Given the description of an element on the screen output the (x, y) to click on. 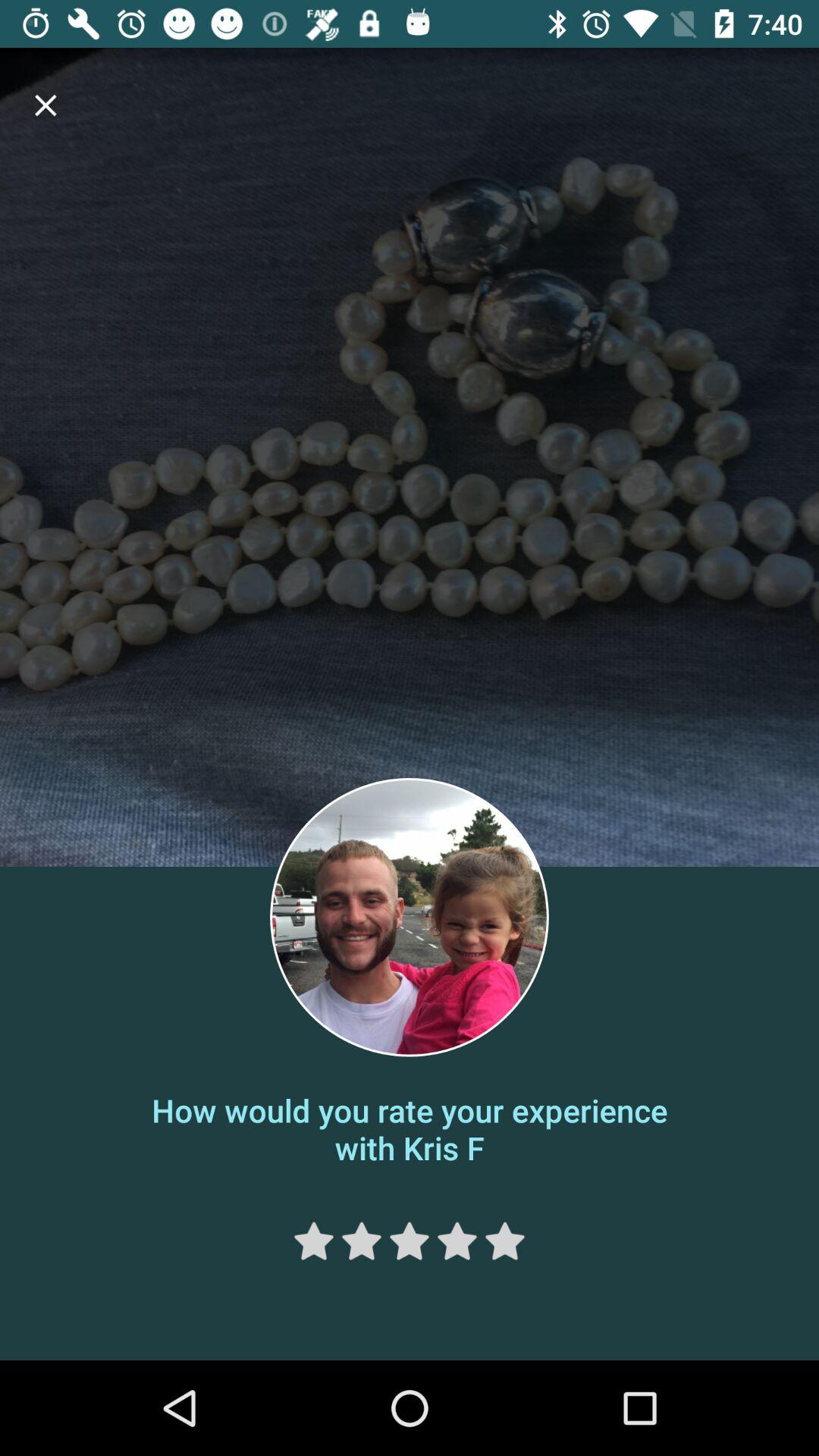
give five stars (504, 1240)
